Given the description of an element on the screen output the (x, y) to click on. 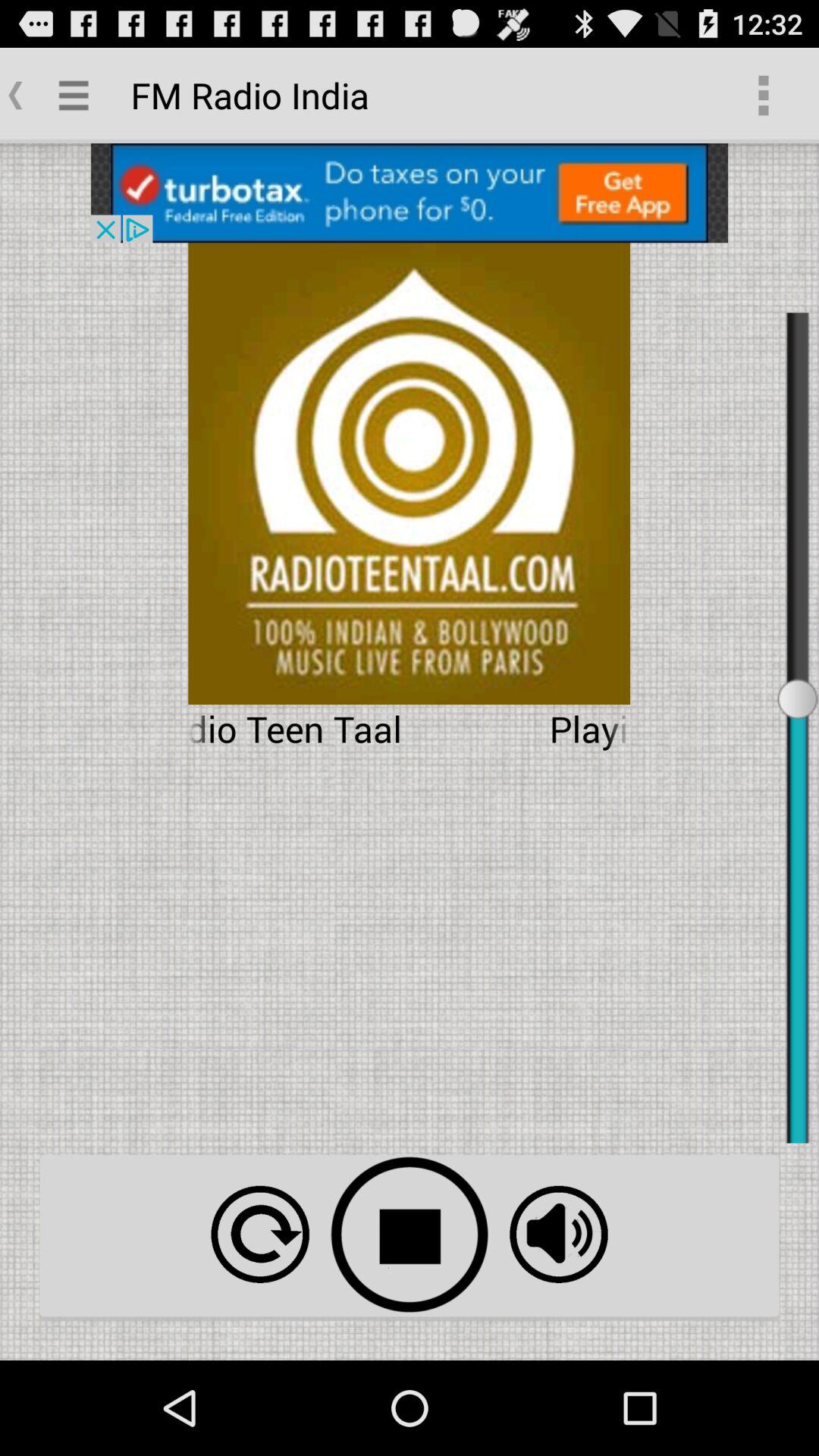
mobile application that allows its users to listen more than 150 radio stations from all over india (558, 1234)
